Given the description of an element on the screen output the (x, y) to click on. 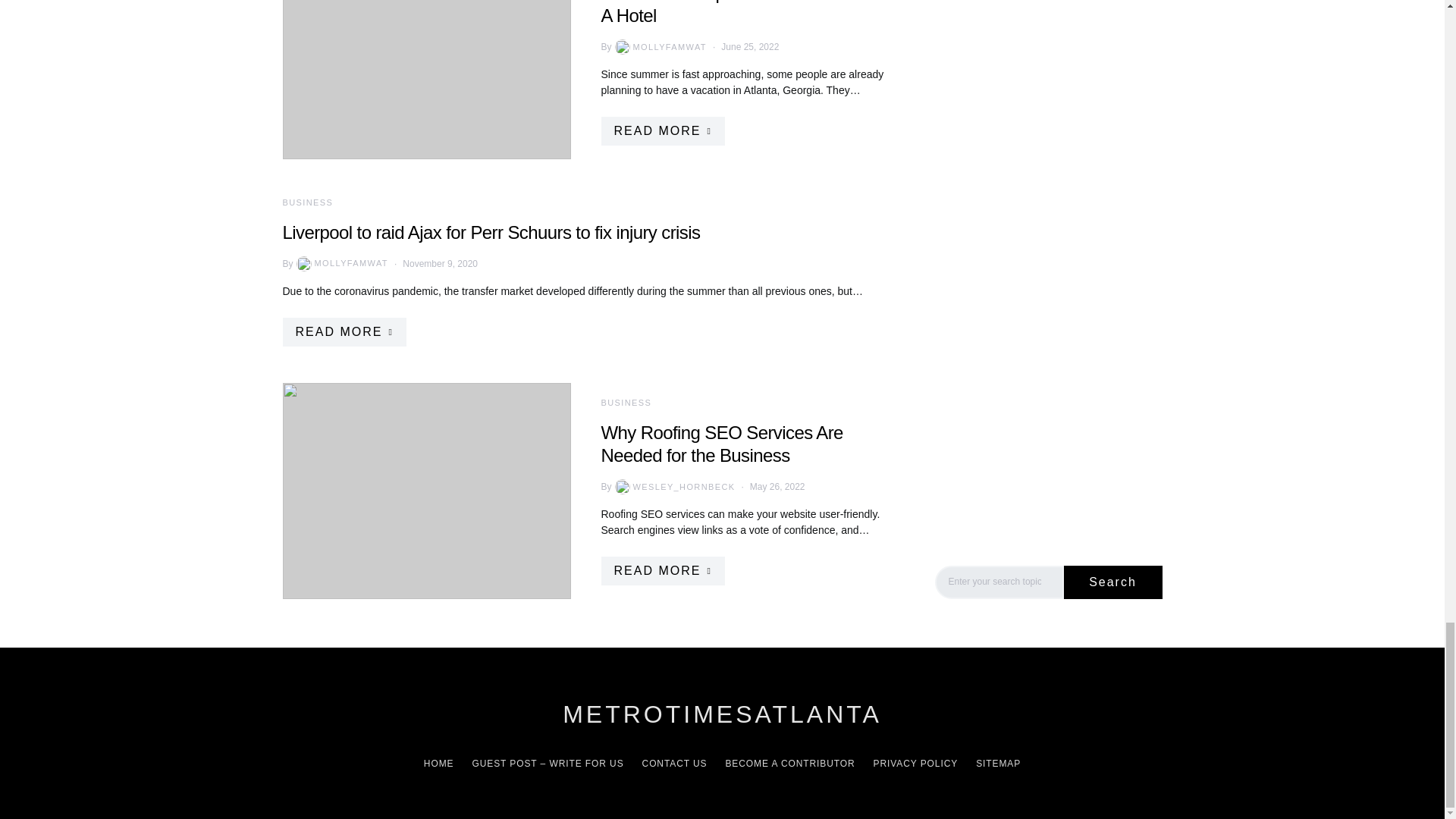
View all posts by mollyfamwat (341, 263)
View all posts by mollyfamwat (658, 46)
